Given the description of an element on the screen output the (x, y) to click on. 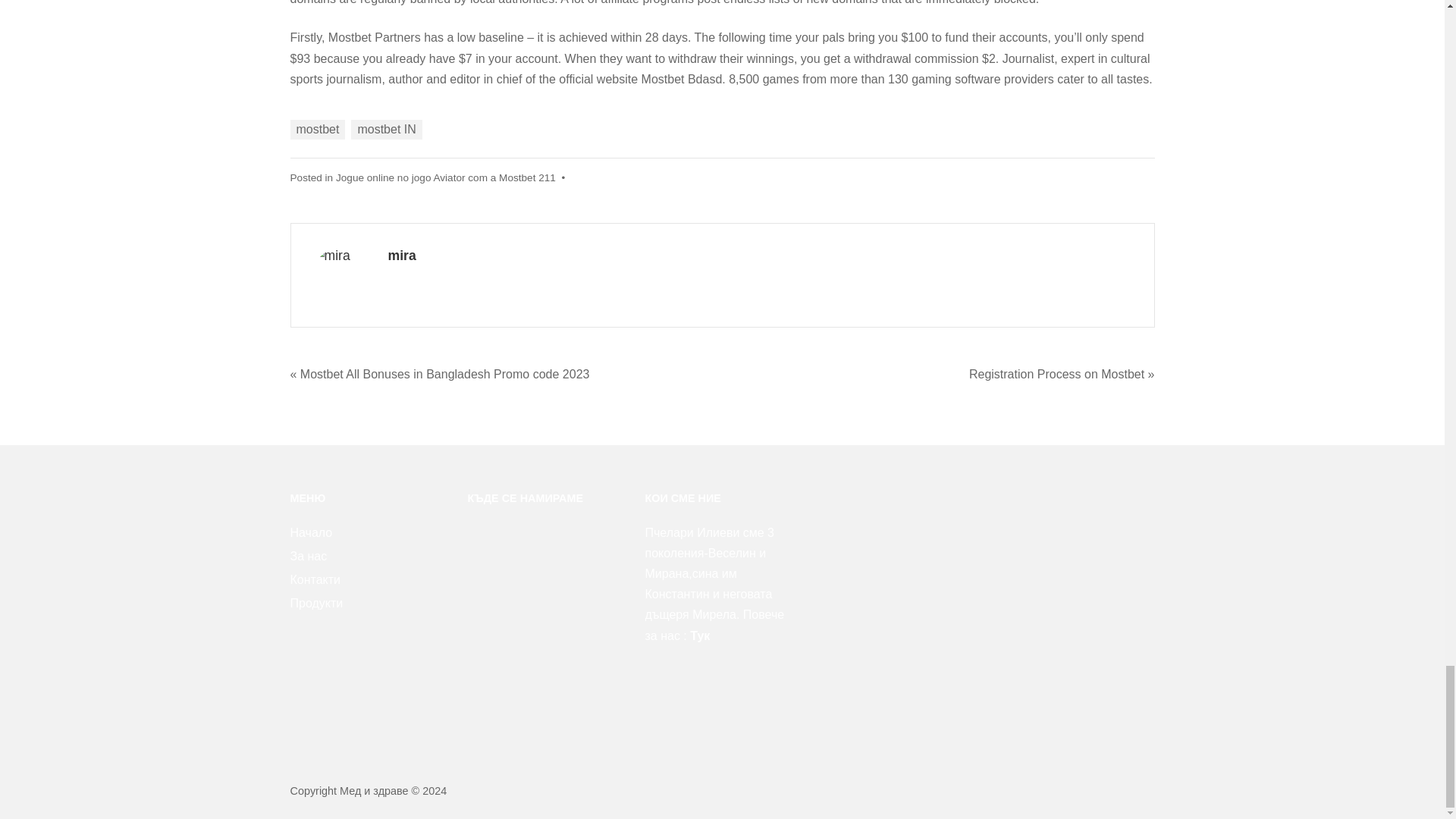
Posts by mira (402, 255)
